Given the description of an element on the screen output the (x, y) to click on. 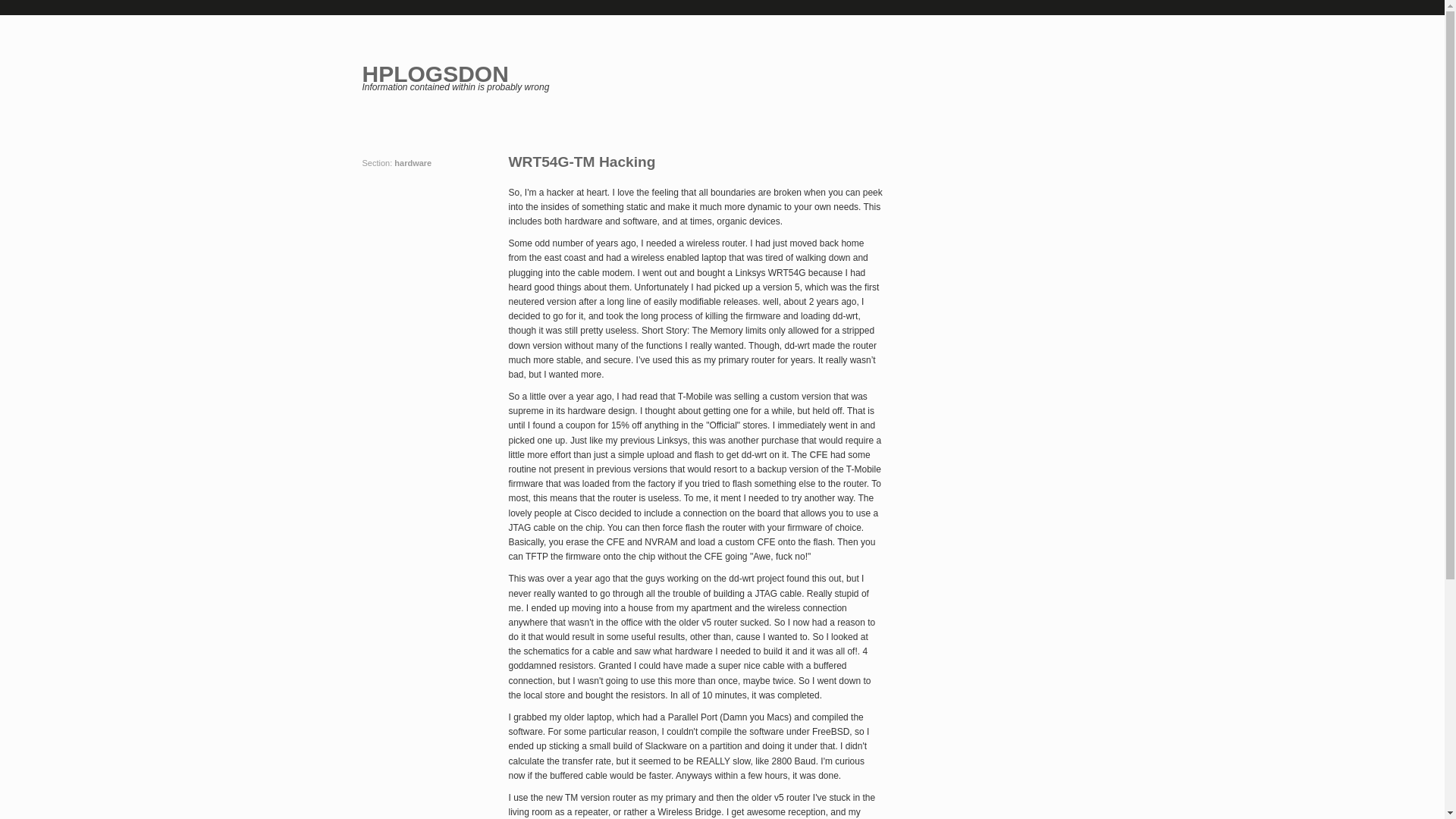
WRT54G-TM Hacking (695, 161)
CFE (818, 454)
HPLOGSDON (435, 73)
WRT54G-TM Hacking (695, 161)
